Given the description of an element on the screen output the (x, y) to click on. 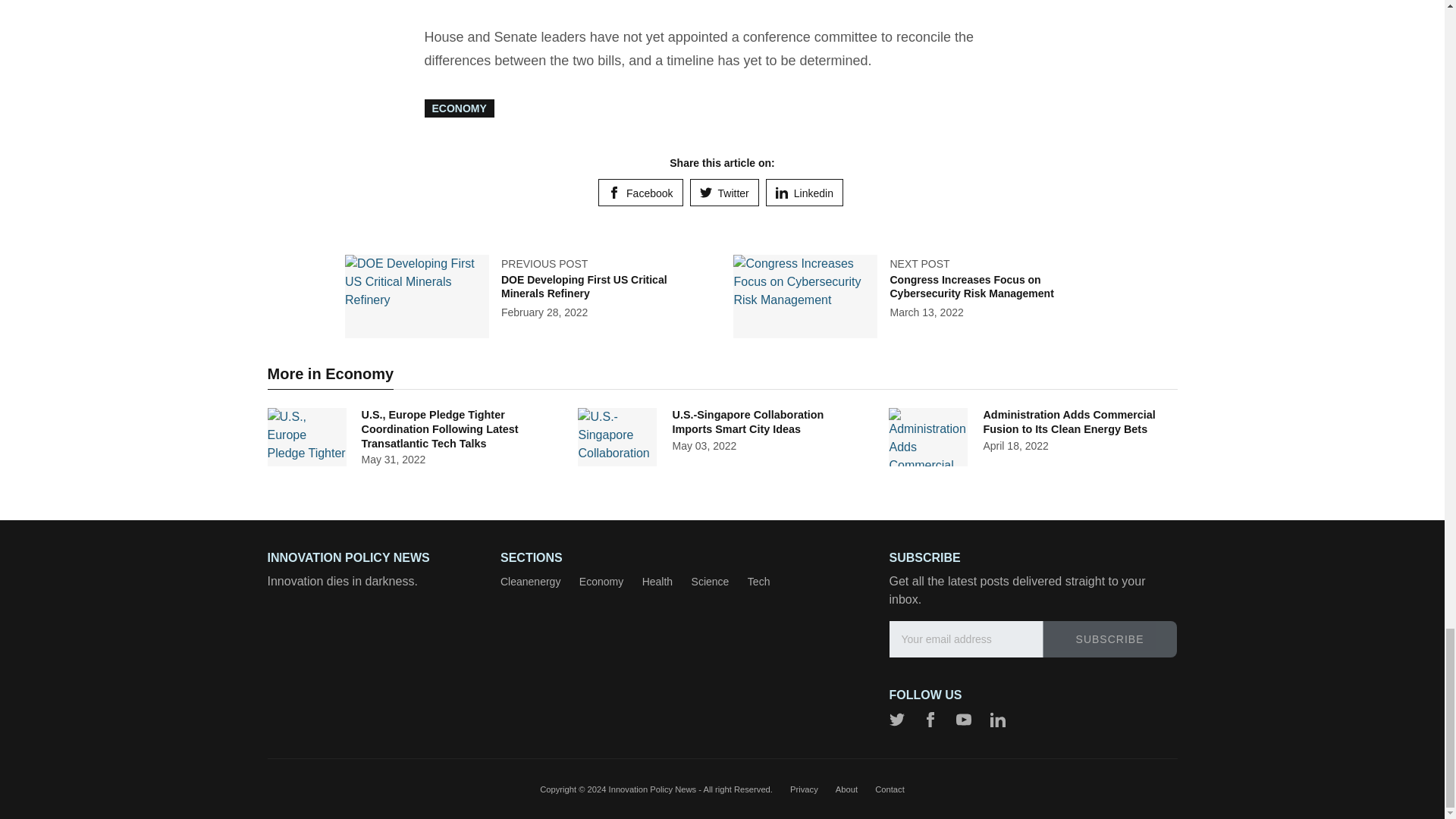
31 May, 2022 (393, 459)
PREVIOUS POST (544, 263)
Twitter (724, 192)
18 April, 2022 (1015, 445)
28 February, 2022 (544, 312)
Share on Twitter (724, 192)
ECONOMY (460, 108)
03 May, 2022 (703, 445)
Linkedin (804, 192)
DOE Developing First US Critical Minerals Refinery (583, 286)
Share on Facebook (640, 192)
Facebook (640, 192)
13 March, 2022 (925, 312)
Share on Linkedin (804, 192)
NEXT POST (919, 263)
